Given the description of an element on the screen output the (x, y) to click on. 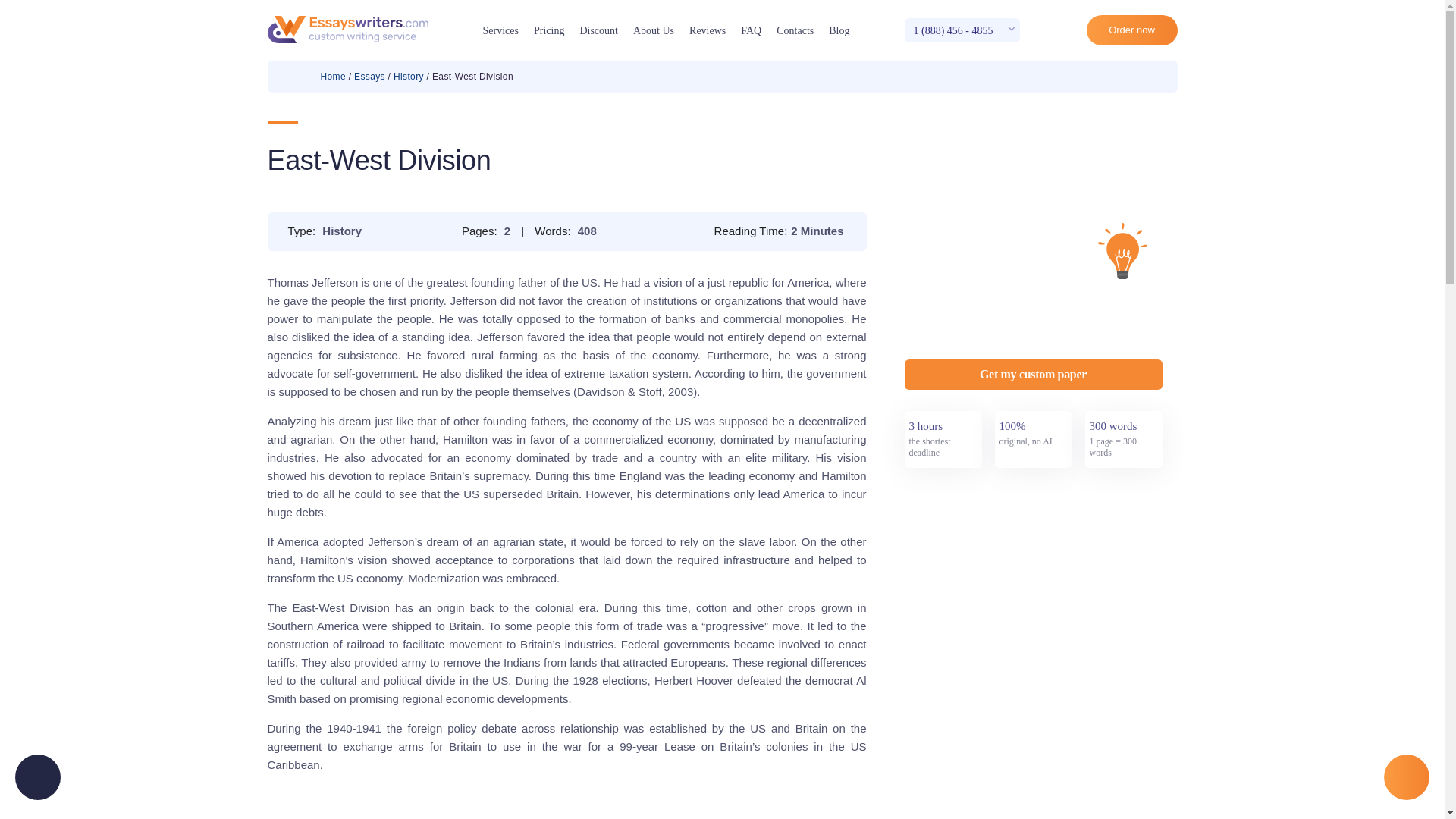
Services (500, 29)
